Given the description of an element on the screen output the (x, y) to click on. 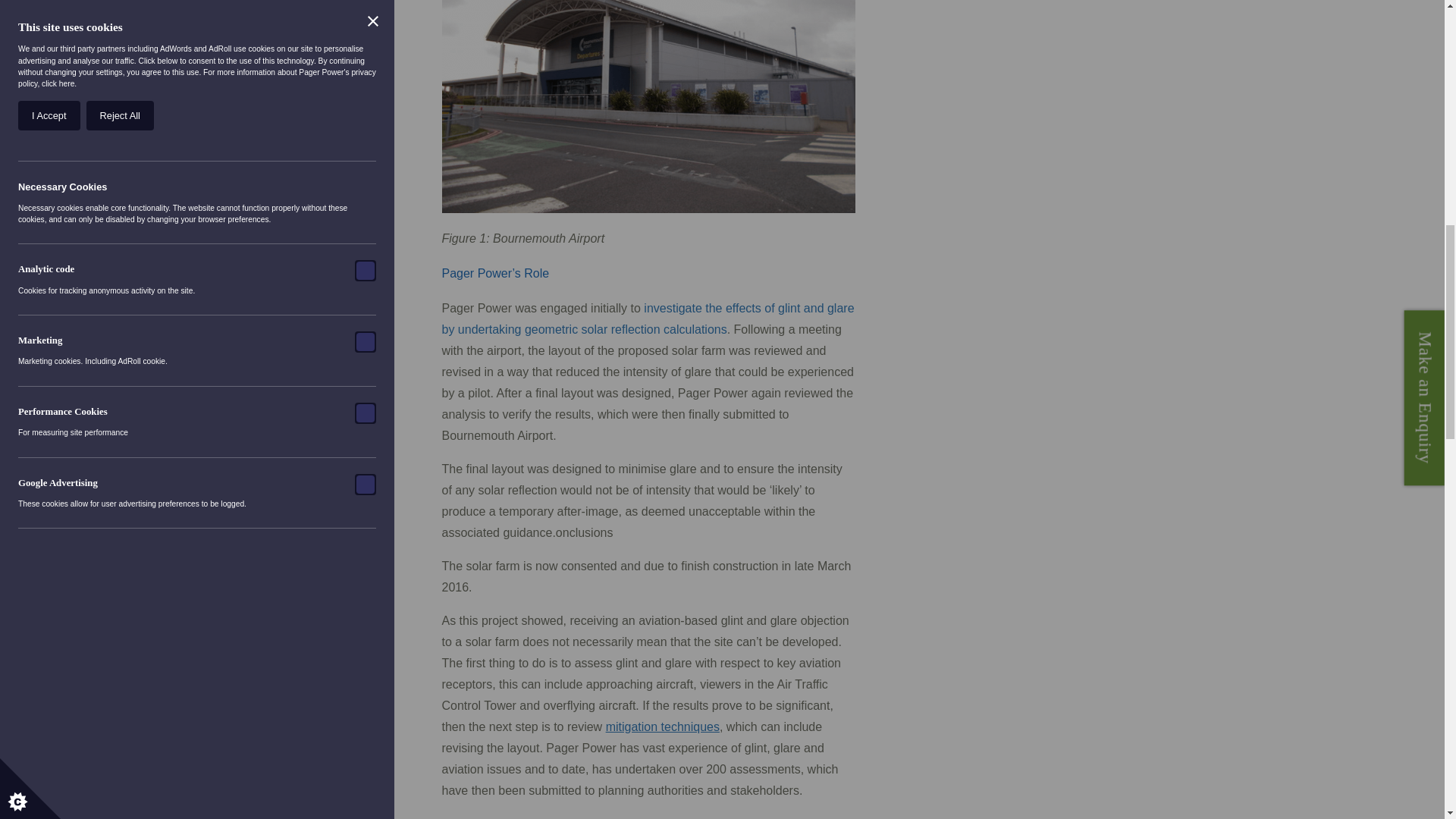
Solar Photovoltaic Glint and Glare Studies (647, 318)
Glint and glare mitigation (662, 726)
